Given the description of an element on the screen output the (x, y) to click on. 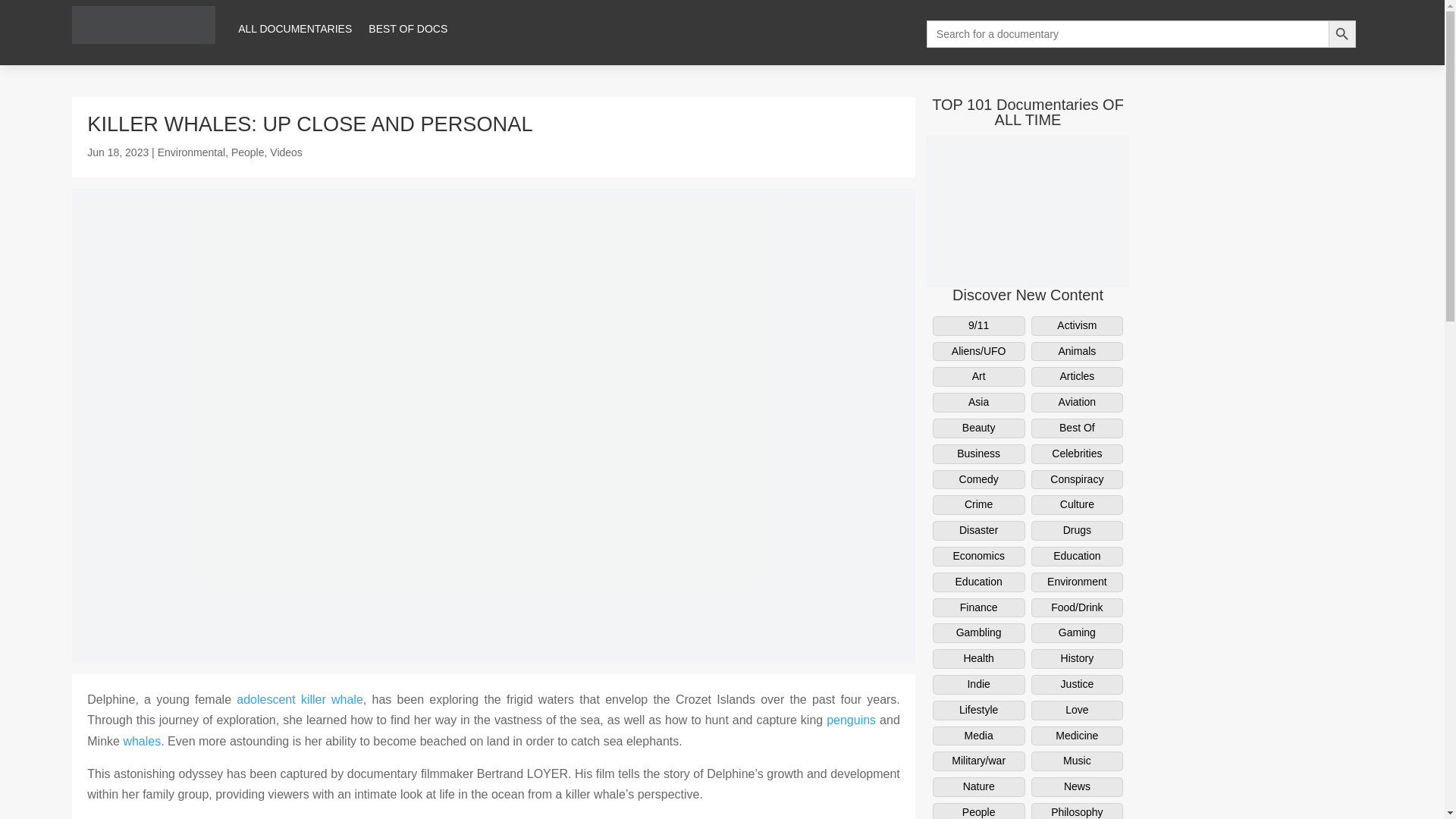
Best Of (1077, 428)
BEST OF DOCS (407, 28)
Articles (1077, 376)
Search Button (1341, 33)
Crime (979, 505)
Videos (285, 152)
adolescent (265, 698)
Celebrities (1077, 454)
Conspiracy (1077, 479)
penguins (851, 719)
